Given the description of an element on the screen output the (x, y) to click on. 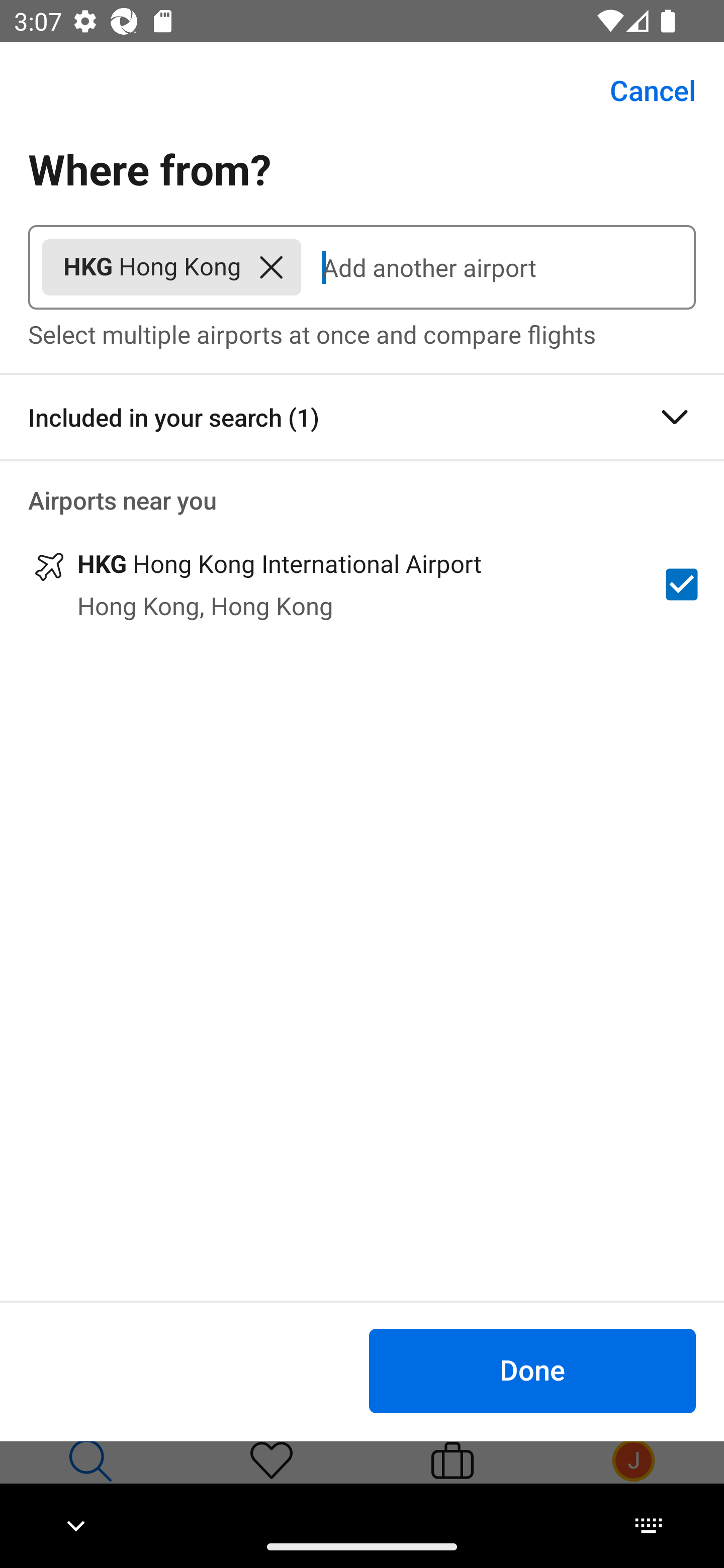
Cancel (641, 90)
Add another airport (498, 266)
HKG Hong Kong Remove HKG Hong Kong (171, 266)
Included in your search (1) (362, 416)
Done (532, 1370)
